Given the description of an element on the screen output the (x, y) to click on. 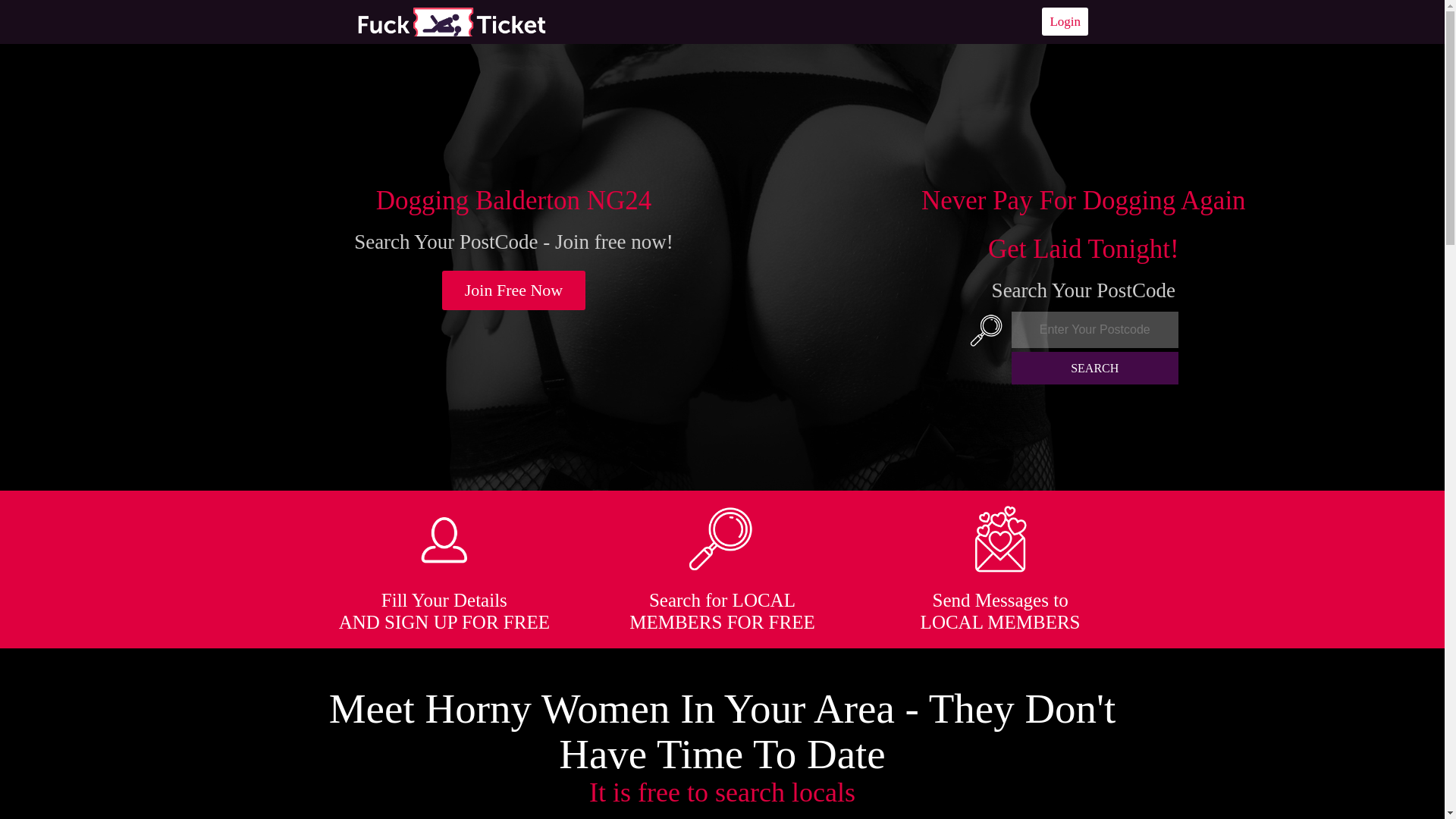
Login to doggingnearme.uk (1064, 21)
SEARCH (1094, 368)
Login (1064, 21)
Dogging Near Me (451, 21)
Join (514, 290)
Join Free Now (514, 290)
